Given the description of an element on the screen output the (x, y) to click on. 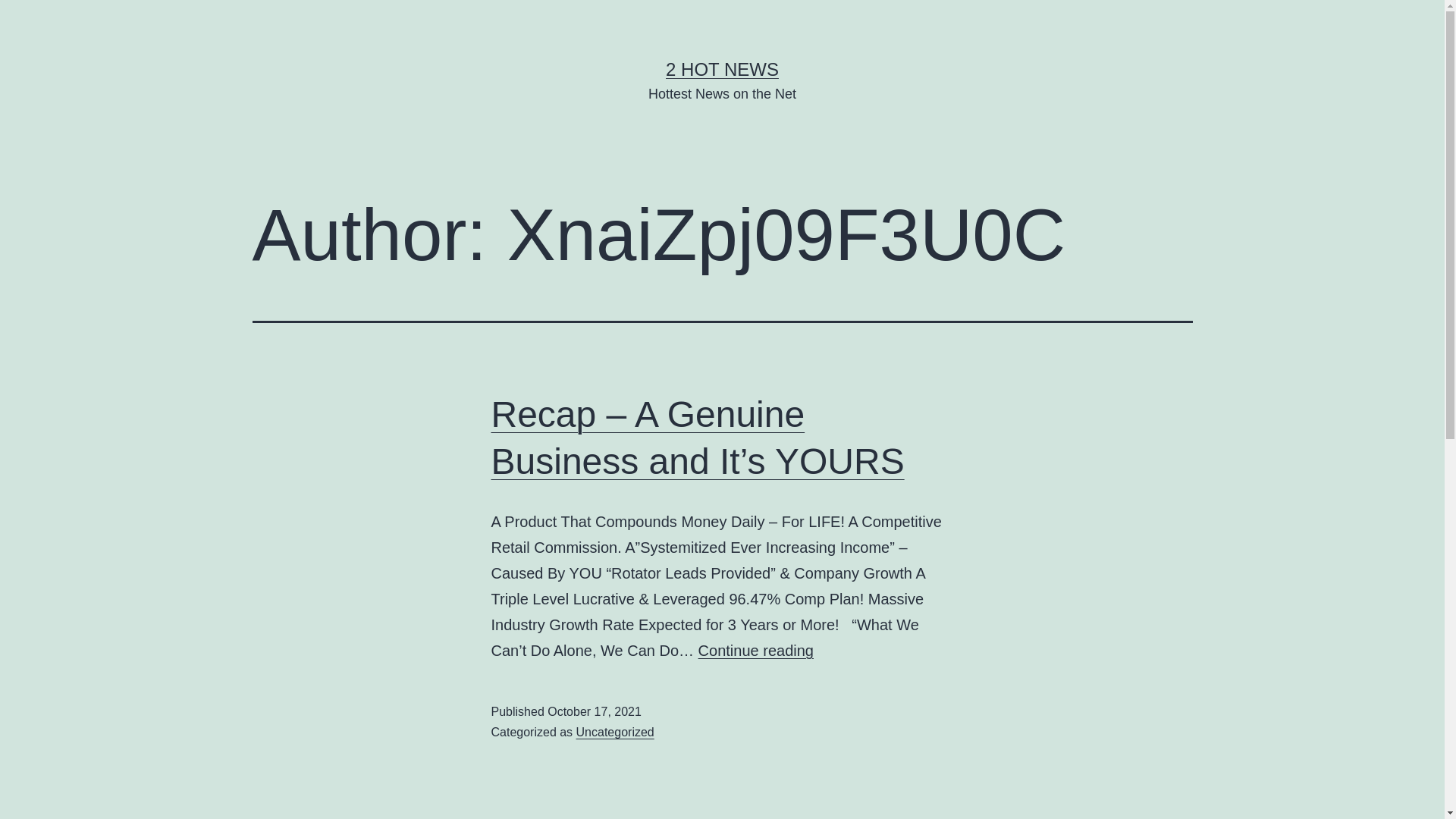
2 HOT NEWS Element type: text (721, 69)
Uncategorized Element type: text (615, 731)
